Given the description of an element on the screen output the (x, y) to click on. 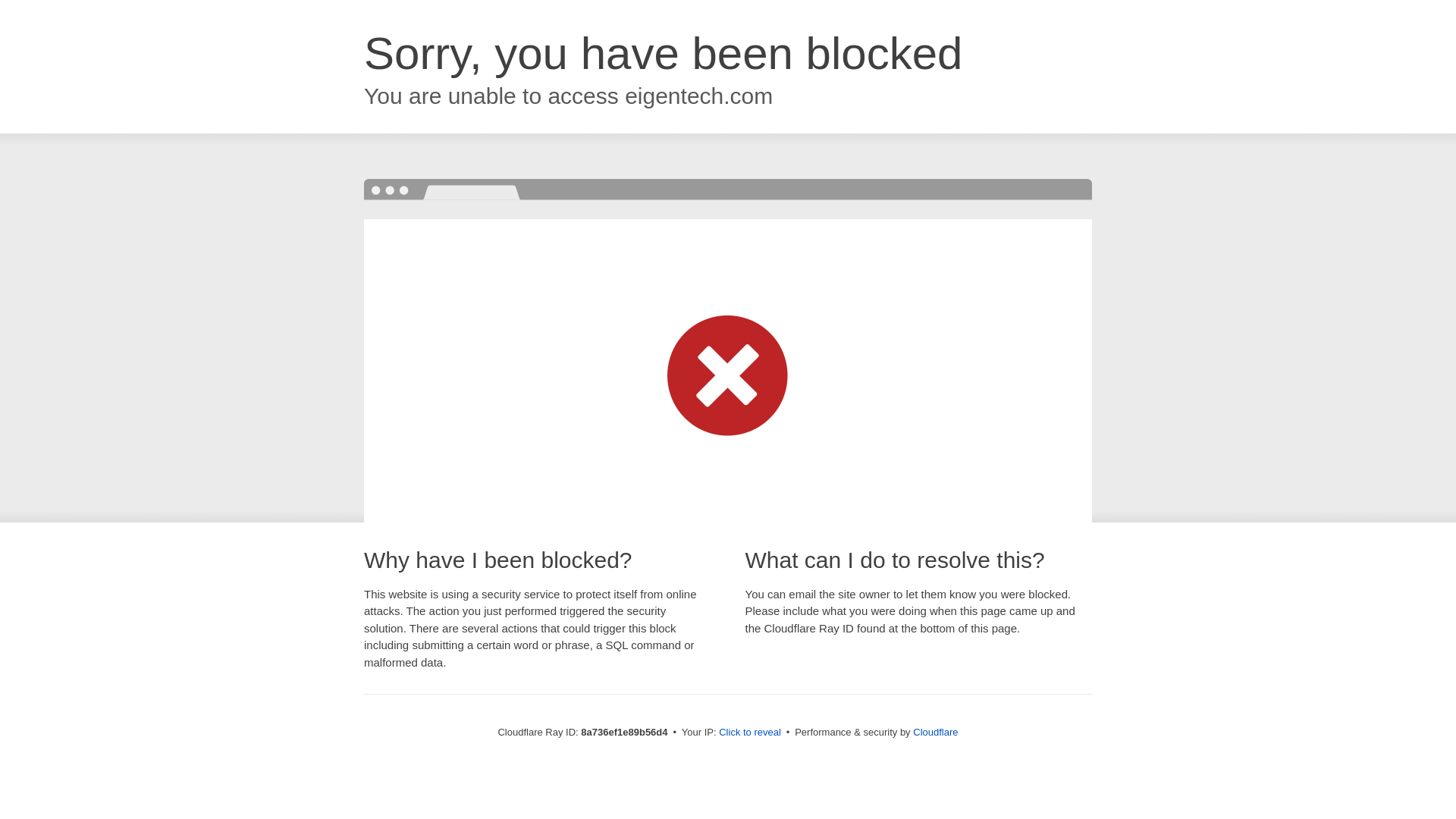
Click to reveal (749, 732)
Cloudflare (935, 731)
